Given the description of an element on the screen output the (x, y) to click on. 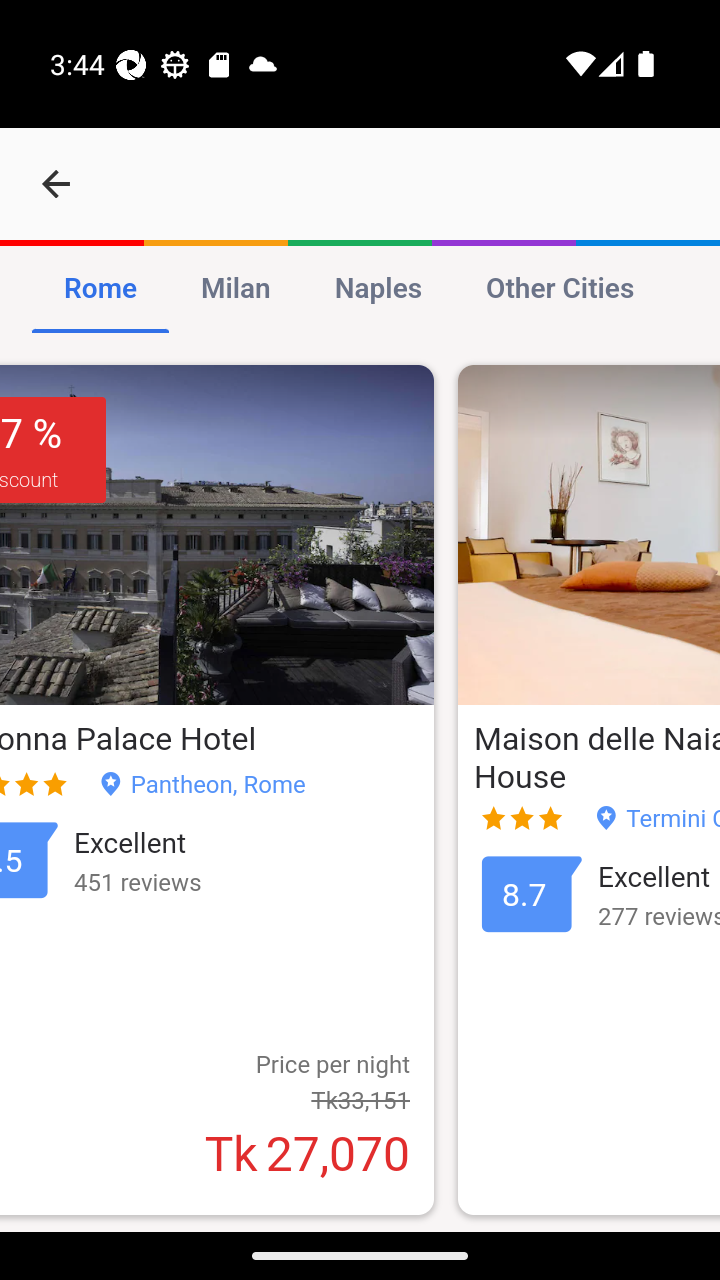
navigation_button (56, 184)
